Given the description of an element on the screen output the (x, y) to click on. 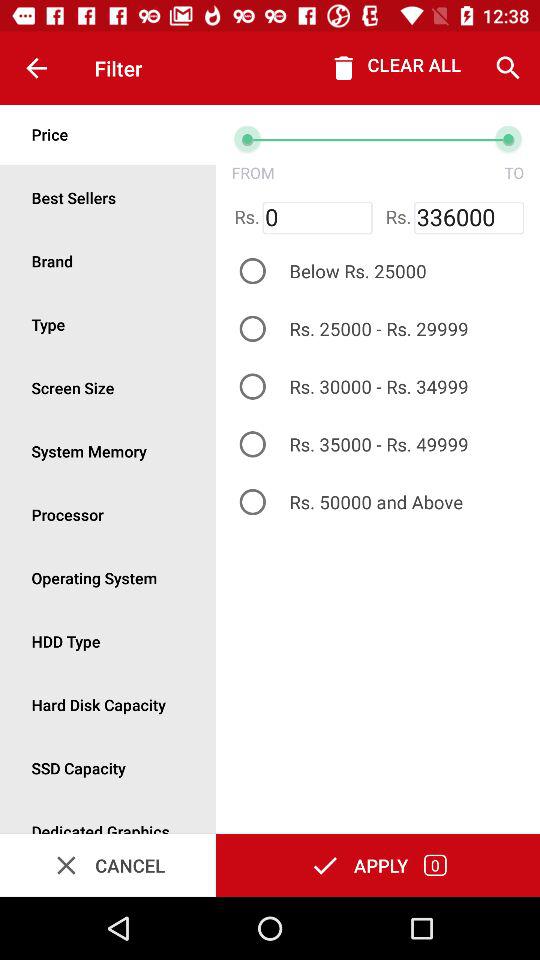
launch 336000 (468, 217)
